Given the description of an element on the screen output the (x, y) to click on. 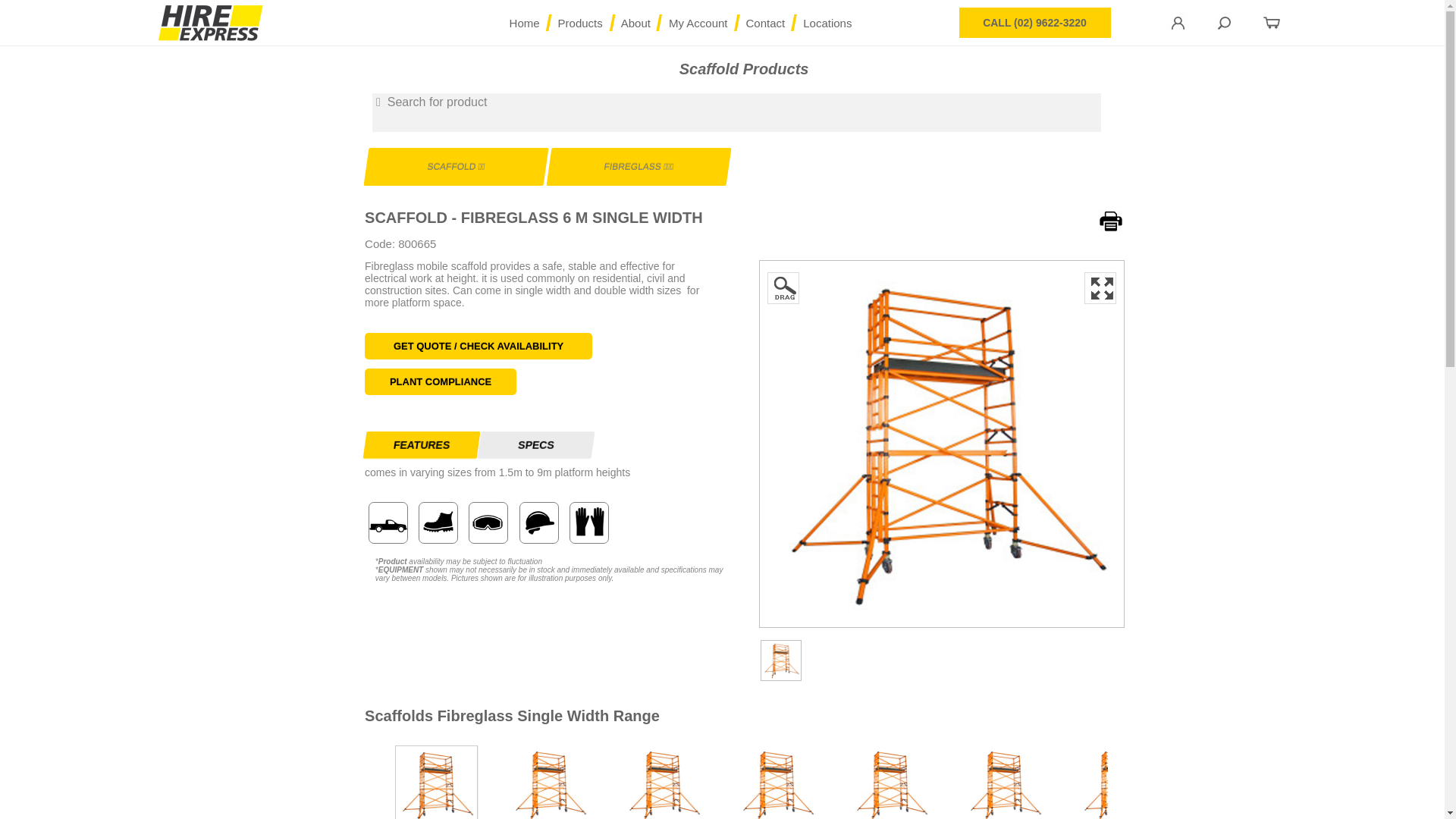
/
Products Element type: text (580, 22)
/
Locations Element type: text (826, 22)
/
Contact Element type: text (765, 22)
Home Element type: text (524, 22)
/
My Account Element type: text (698, 22)
/
About Element type: text (635, 22)
CALL (02) 9622-3220 Element type: text (1034, 22)
Click for Photo Gallery Element type: hover (941, 621)
